Given the description of an element on the screen output the (x, y) to click on. 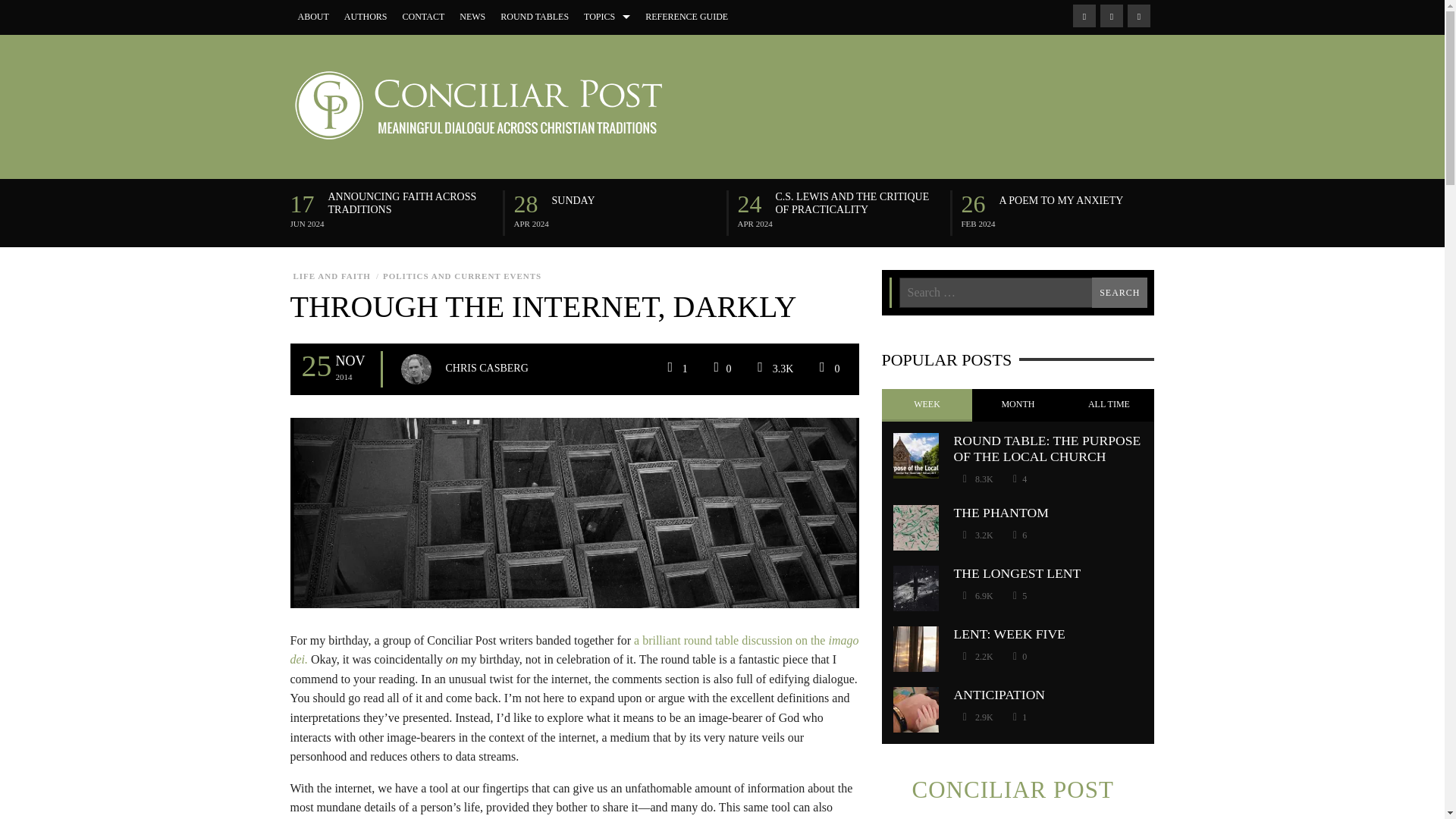
View all posts in Politics and Current Events (460, 276)
Twitter (1138, 15)
Search (1119, 292)
I like this (720, 369)
Search (1119, 292)
Instagram (1110, 15)
View all posts in Life and Faith (330, 276)
View all posts by Chris Casberg (486, 368)
I like this (1019, 478)
View all posts by Chris Casberg (415, 368)
Permalink to Round Table: The Purpose of the Local Church (1047, 448)
Through the Internet, Darkly (574, 511)
Facebook (1082, 15)
